Given the description of an element on the screen output the (x, y) to click on. 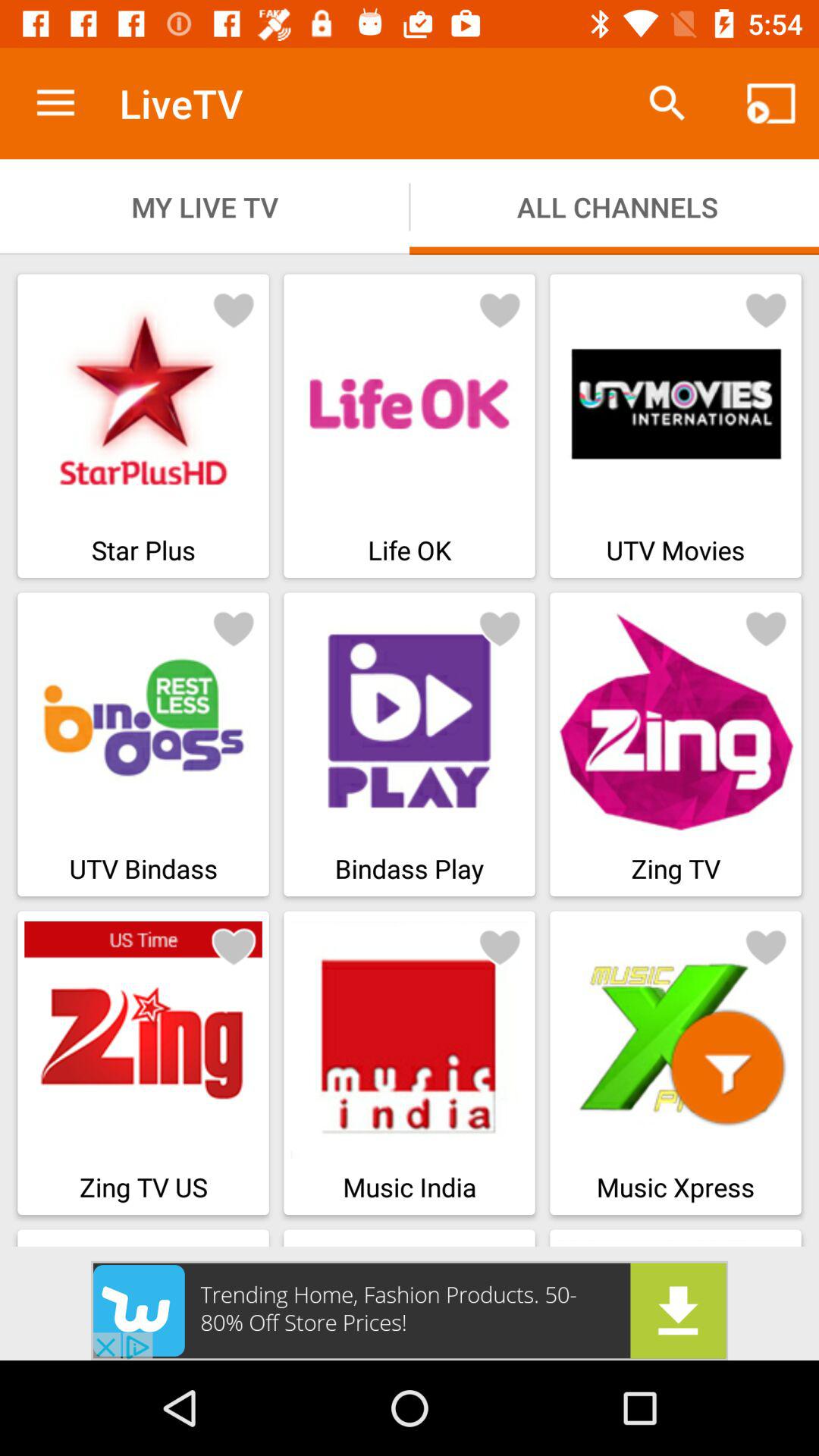
add to favorites (766, 946)
